Given the description of an element on the screen output the (x, y) to click on. 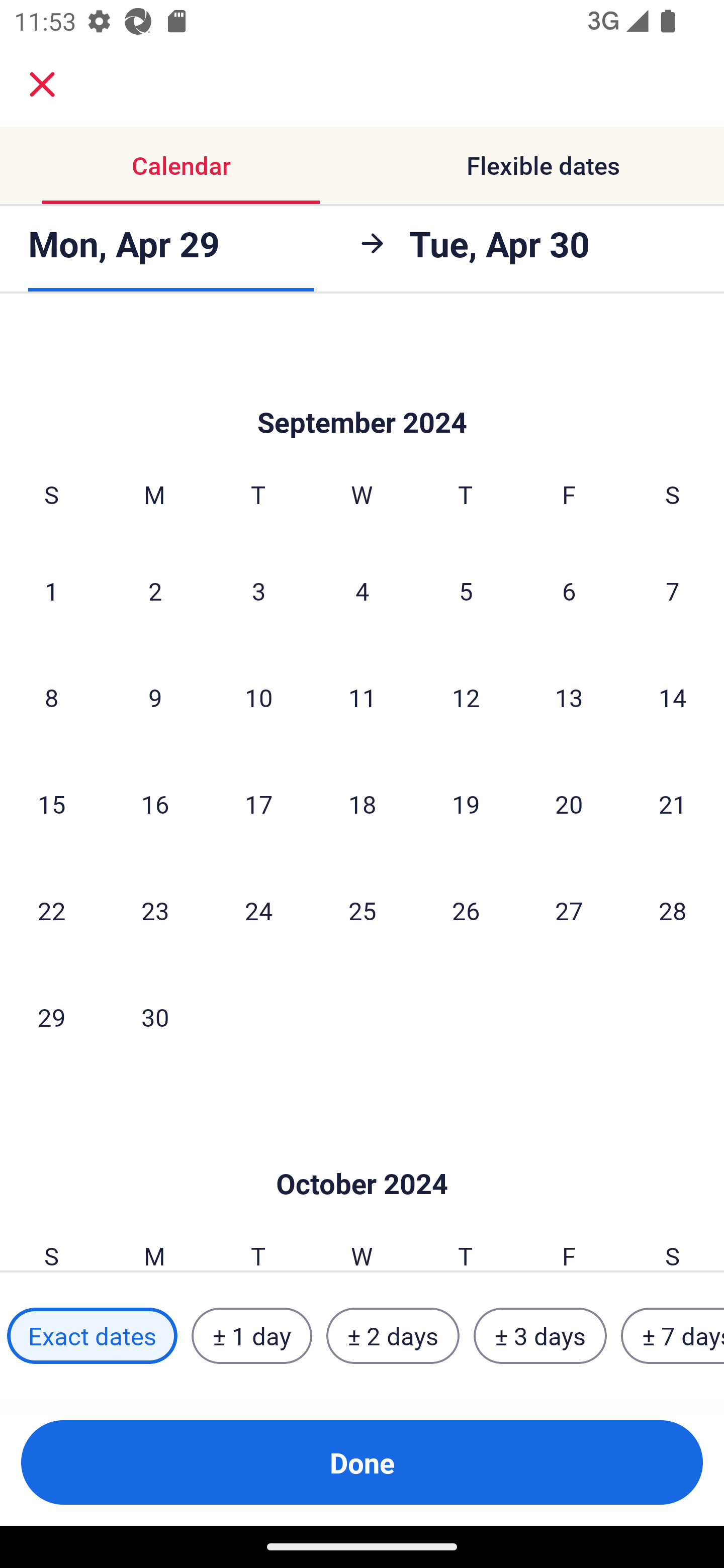
close. (42, 84)
Flexible dates (542, 164)
Skip to Done (362, 391)
1 Sunday, September 1, 2024 (51, 590)
2 Monday, September 2, 2024 (155, 590)
3 Tuesday, September 3, 2024 (258, 590)
4 Wednesday, September 4, 2024 (362, 590)
5 Thursday, September 5, 2024 (465, 590)
6 Friday, September 6, 2024 (569, 590)
7 Saturday, September 7, 2024 (672, 590)
8 Sunday, September 8, 2024 (51, 697)
9 Monday, September 9, 2024 (155, 697)
10 Tuesday, September 10, 2024 (258, 697)
11 Wednesday, September 11, 2024 (362, 697)
12 Thursday, September 12, 2024 (465, 697)
13 Friday, September 13, 2024 (569, 697)
14 Saturday, September 14, 2024 (672, 697)
15 Sunday, September 15, 2024 (51, 804)
16 Monday, September 16, 2024 (155, 804)
17 Tuesday, September 17, 2024 (258, 804)
18 Wednesday, September 18, 2024 (362, 804)
19 Thursday, September 19, 2024 (465, 804)
20 Friday, September 20, 2024 (569, 804)
21 Saturday, September 21, 2024 (672, 804)
22 Sunday, September 22, 2024 (51, 910)
23 Monday, September 23, 2024 (155, 910)
24 Tuesday, September 24, 2024 (258, 910)
25 Wednesday, September 25, 2024 (362, 910)
26 Thursday, September 26, 2024 (465, 910)
27 Friday, September 27, 2024 (569, 910)
28 Saturday, September 28, 2024 (672, 910)
29 Sunday, September 29, 2024 (51, 1016)
30 Monday, September 30, 2024 (155, 1016)
Skip to Done (362, 1153)
Exact dates (92, 1335)
± 1 day (251, 1335)
± 2 days (392, 1335)
± 3 days (539, 1335)
± 7 days (672, 1335)
Done (361, 1462)
